Given the description of an element on the screen output the (x, y) to click on. 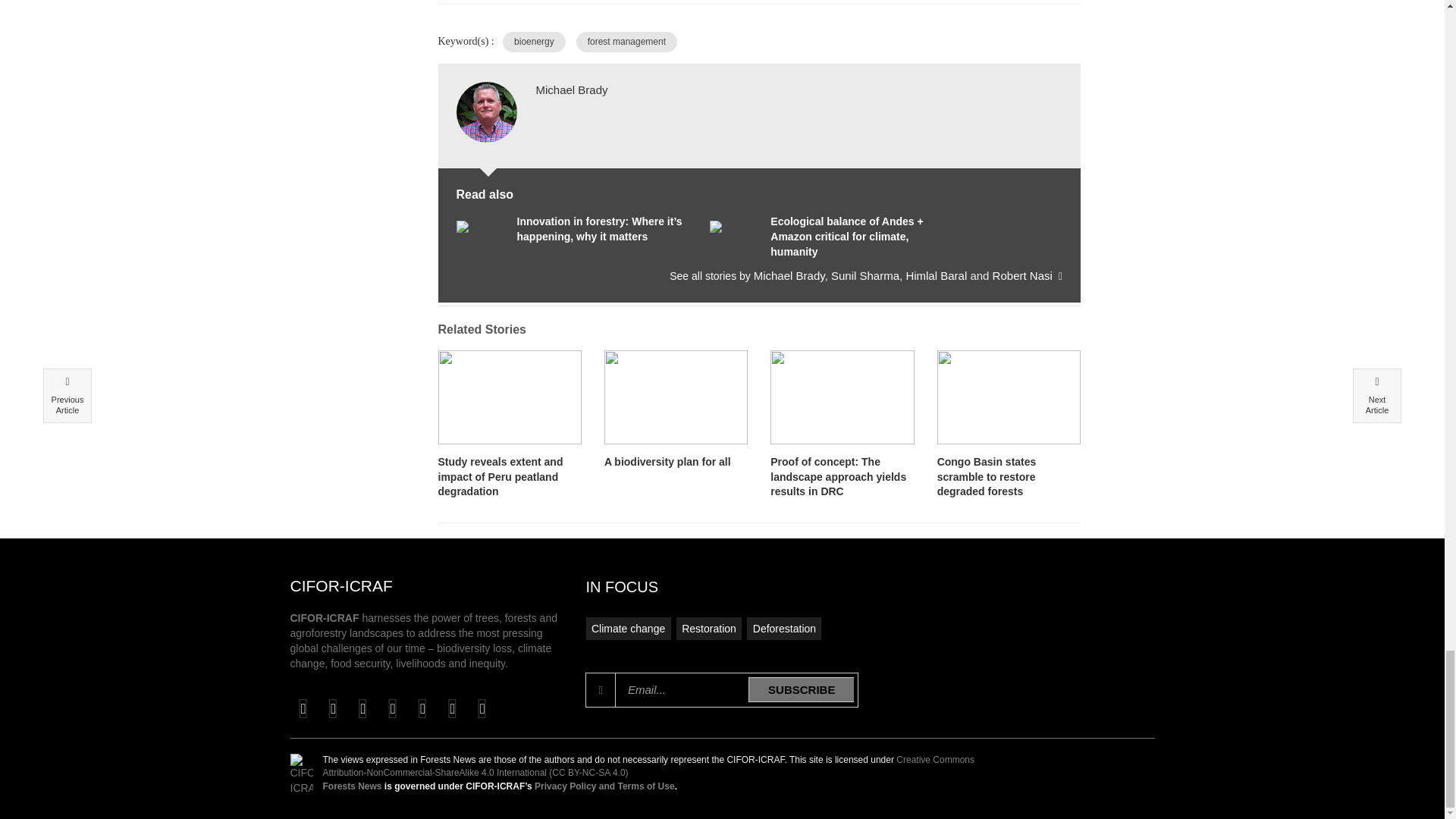
Subscribe (800, 689)
